Given the description of an element on the screen output the (x, y) to click on. 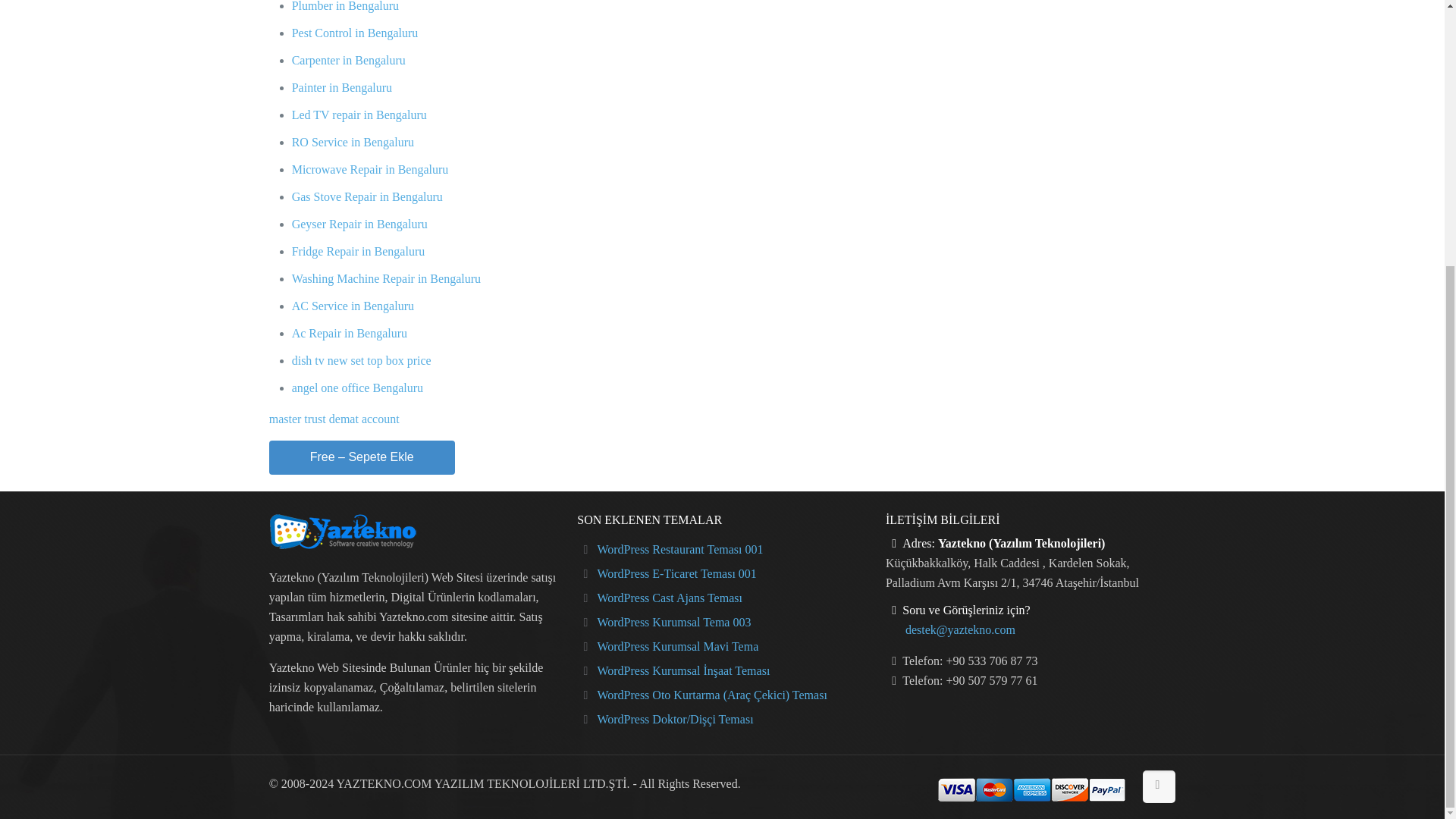
Washing Machine Repair in Bengaluru (386, 278)
Carpenter in Bengaluru (349, 60)
Led TV repair in Bengaluru (359, 114)
Fridge Repair in Bengaluru (358, 250)
Ac Repair in Bengaluru (349, 332)
angel one office Bengaluru (357, 387)
Microwave Repair in Bengaluru (370, 169)
AC Service in Bengaluru (352, 305)
Painter in Bengaluru (341, 87)
dish tv new set top box price (361, 359)
